Given the description of an element on the screen output the (x, y) to click on. 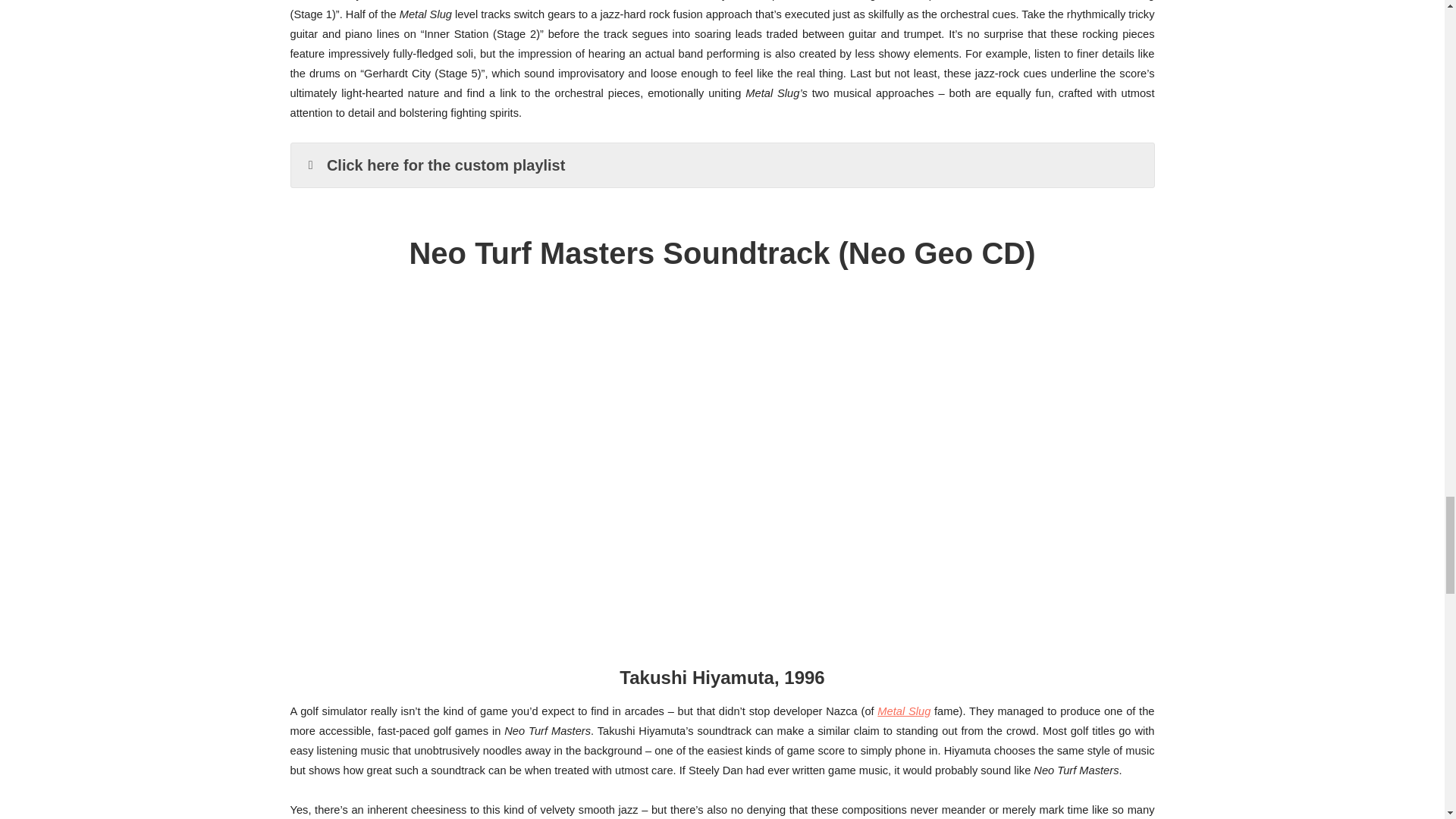
Metal Slug (903, 711)
Click here for the custom playlist (722, 165)
